Given the description of an element on the screen output the (x, y) to click on. 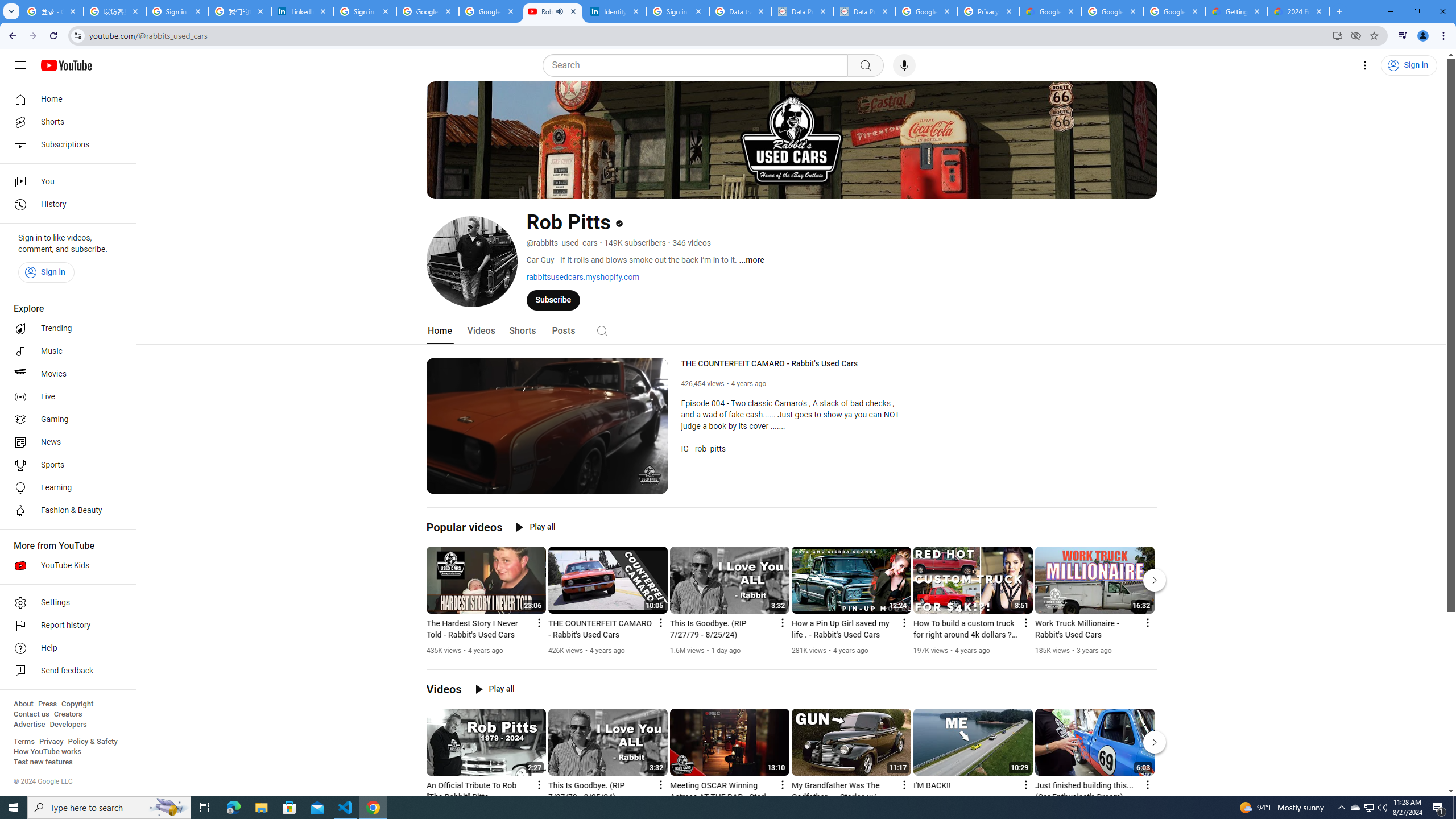
Videos (443, 688)
Policy & Safety (91, 741)
Action menu (1146, 784)
Shorts (64, 121)
Channel watermark (649, 475)
Control your music, videos, and more (1402, 35)
News (64, 441)
Home (440, 330)
Mute (m) (463, 483)
Mute tab (559, 10)
Install YouTube (1336, 35)
Music (64, 350)
